Given the description of an element on the screen output the (x, y) to click on. 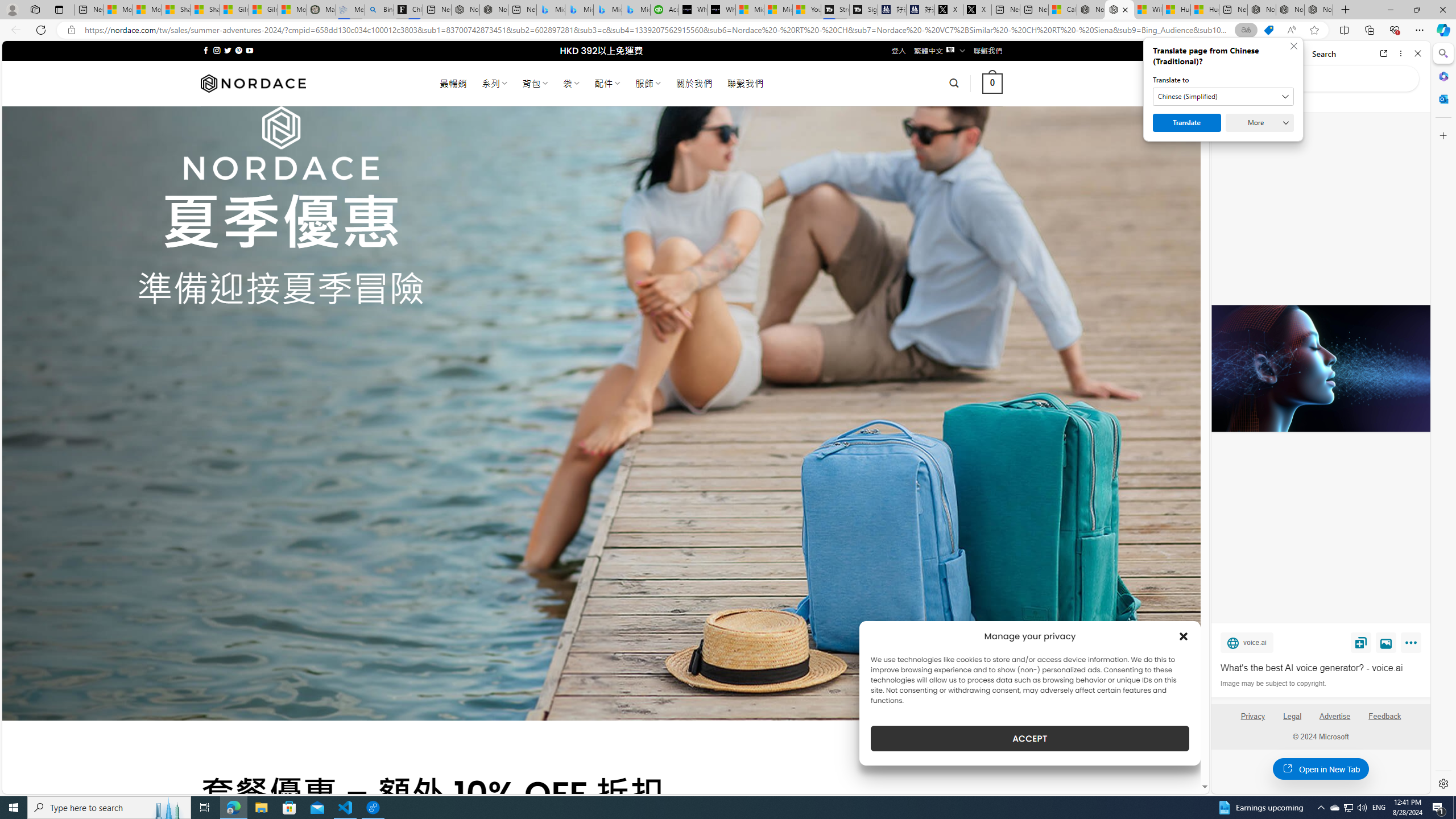
Streaming Coverage | T3 (835, 9)
Back (1225, 53)
 0  (992, 83)
voice.ai (1247, 642)
Legal (1291, 715)
Microsoft Start (777, 9)
Restore (1416, 9)
Nordace Siena Pro 15 Backpack (1289, 9)
X (976, 9)
Feedback (1384, 720)
